Given the description of an element on the screen output the (x, y) to click on. 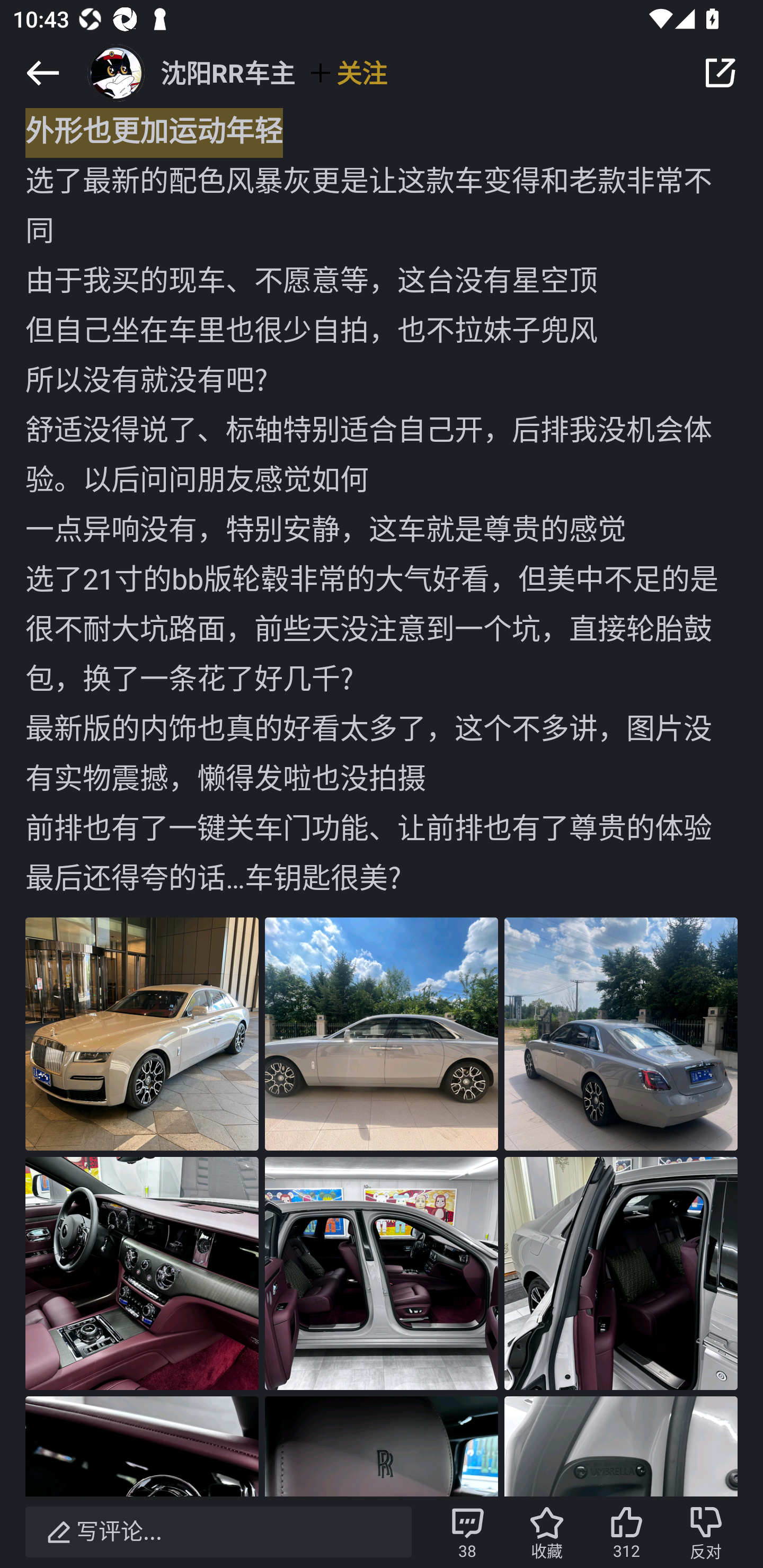
 (42, 72)
 (720, 72)
 关注 (347, 71)
 38 (467, 1531)
收藏 (546, 1531)
312 (625, 1531)
反对 (705, 1531)
 写评论... (218, 1531)
